Given the description of an element on the screen output the (x, y) to click on. 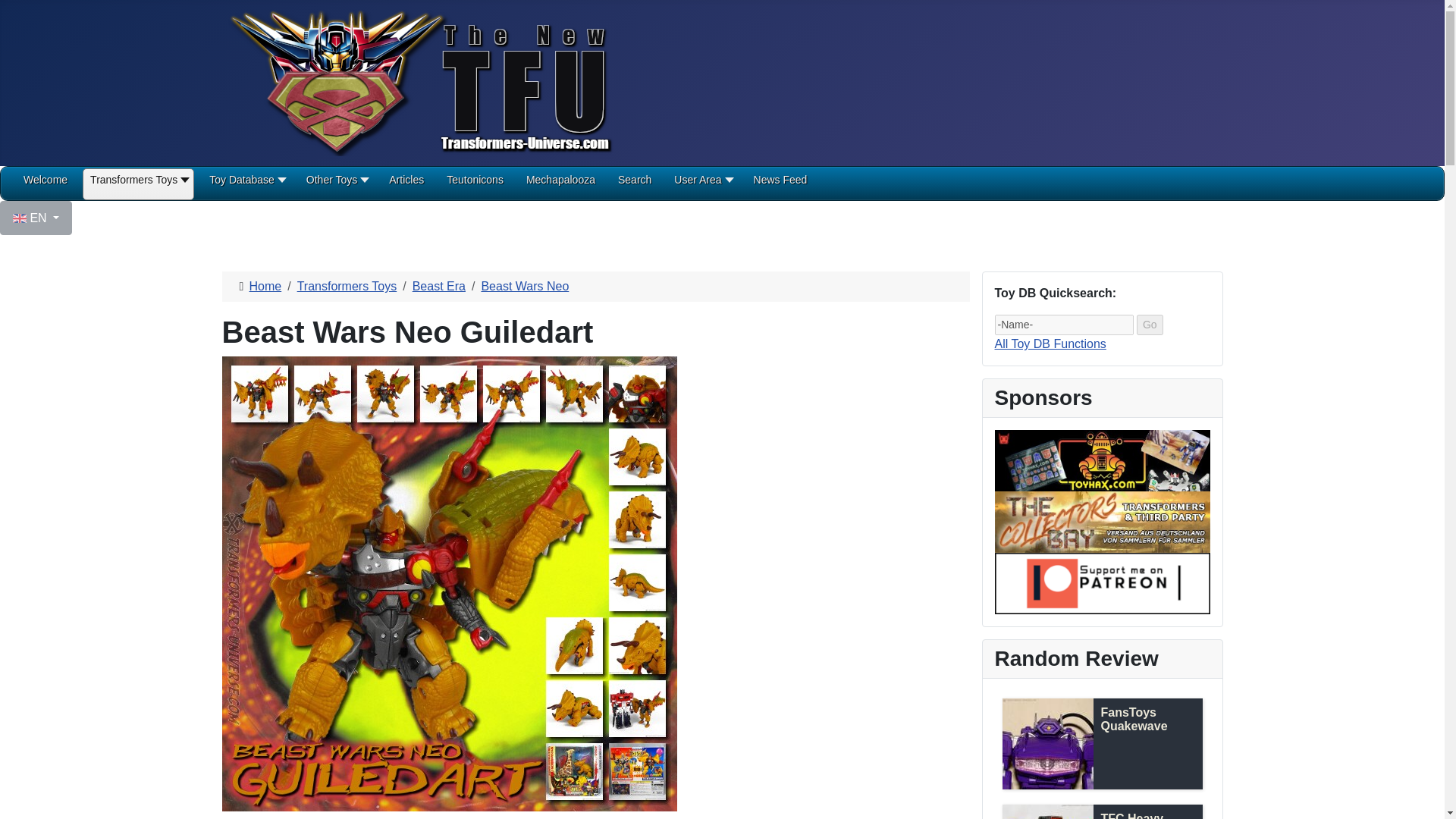
Go (1150, 324)
Welcome (44, 184)
-Name- (1064, 324)
Transformers Toys (138, 184)
